Given the description of an element on the screen output the (x, y) to click on. 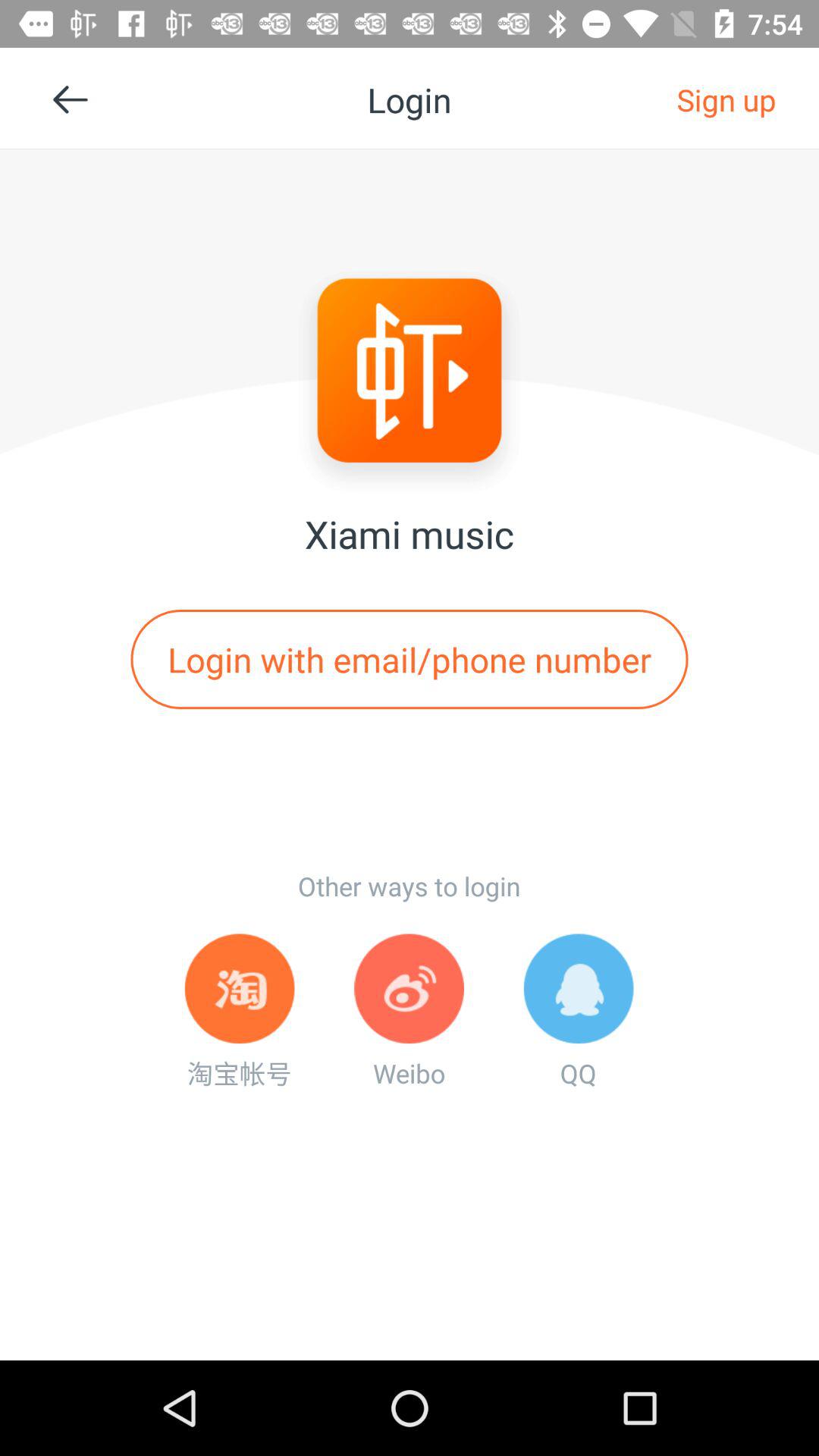
turn off the item at the bottom left corner (239, 1011)
